Given the description of an element on the screen output the (x, y) to click on. 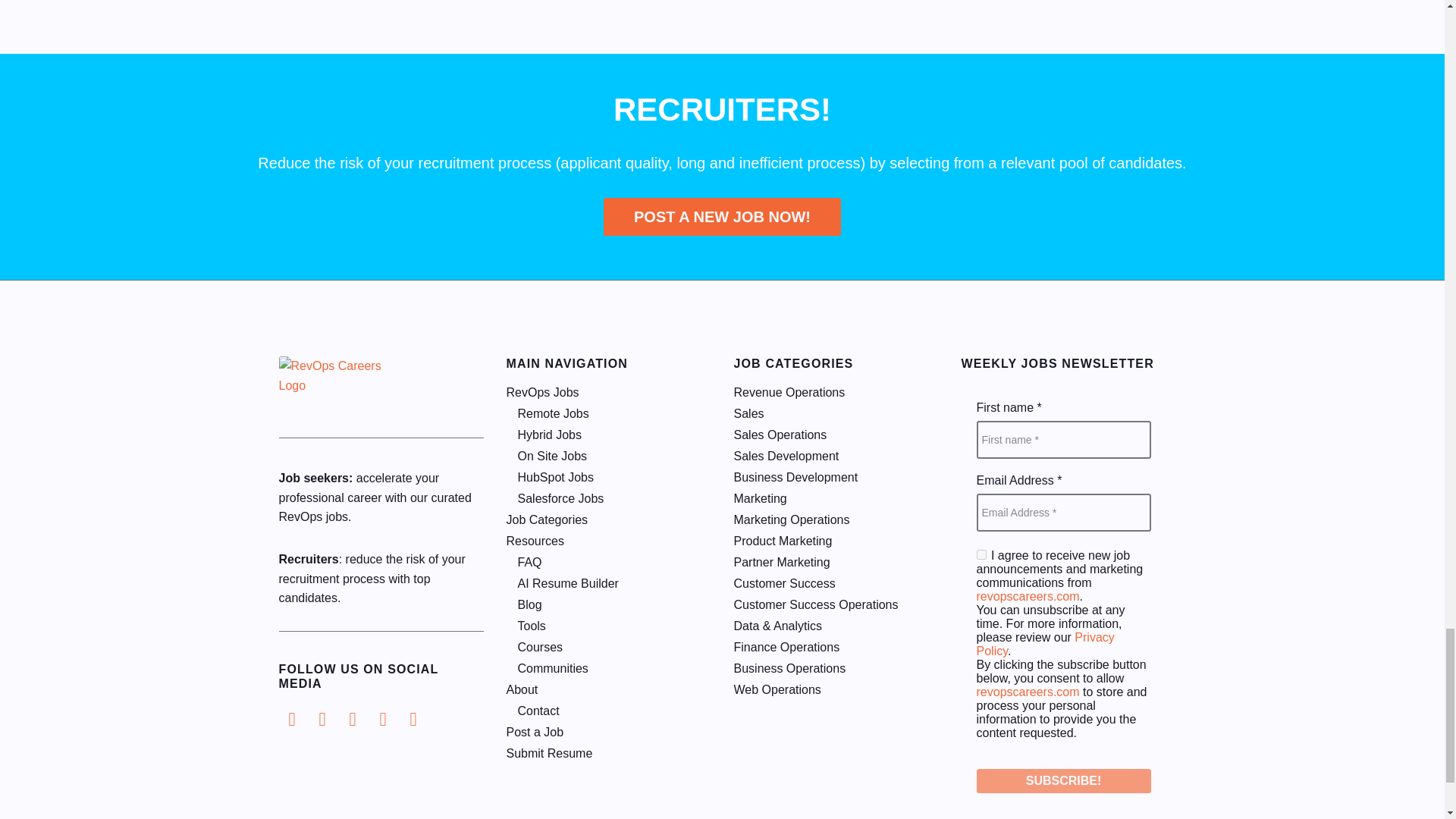
SUBSCRIBE! (1063, 781)
Email Address (1063, 512)
1 (981, 554)
First name (1063, 439)
